Given the description of an element on the screen output the (x, y) to click on. 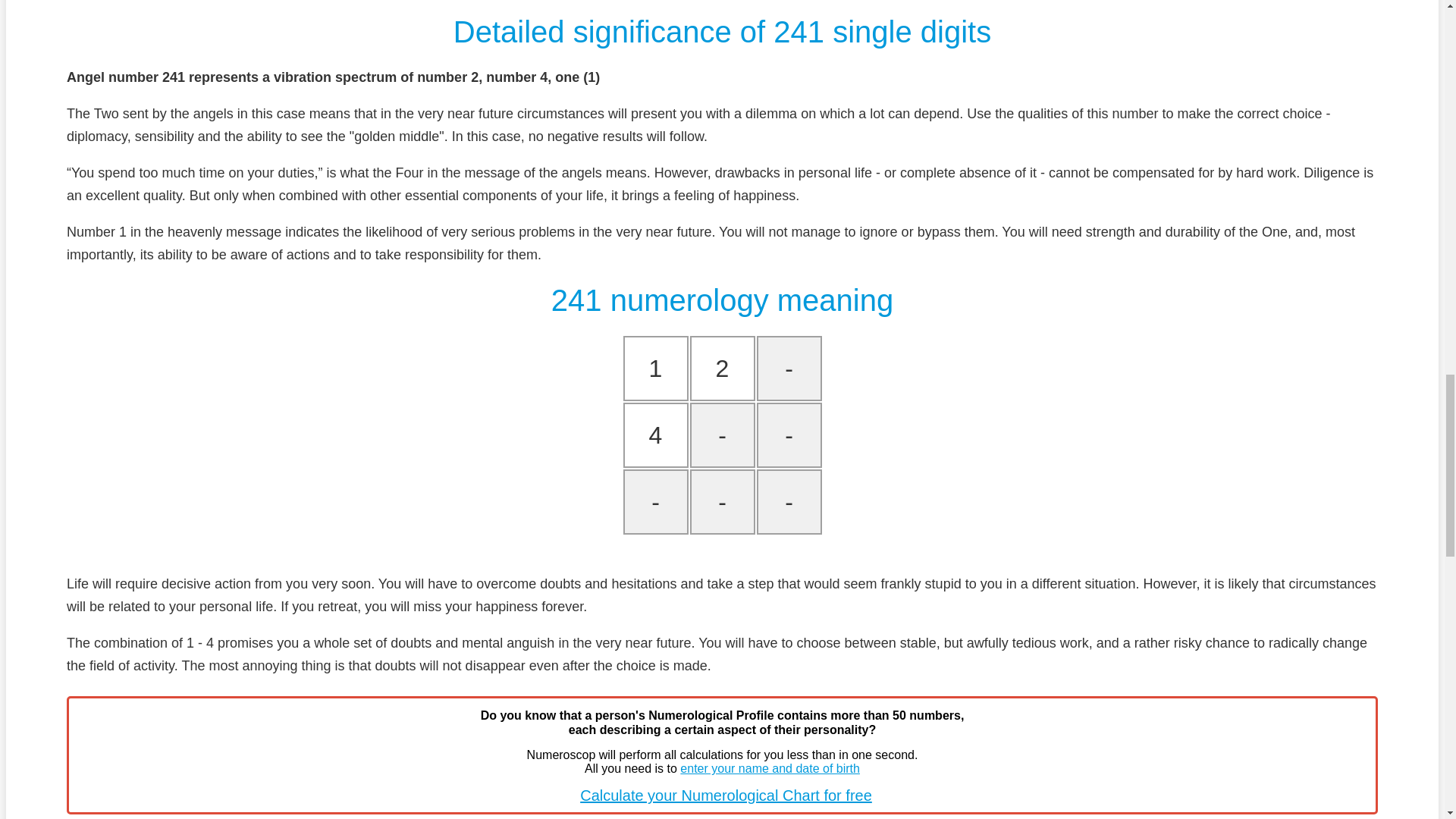
enter your name and date of birth (769, 768)
Calculate your Numerological Chart for free (725, 795)
